Given the description of an element on the screen output the (x, y) to click on. 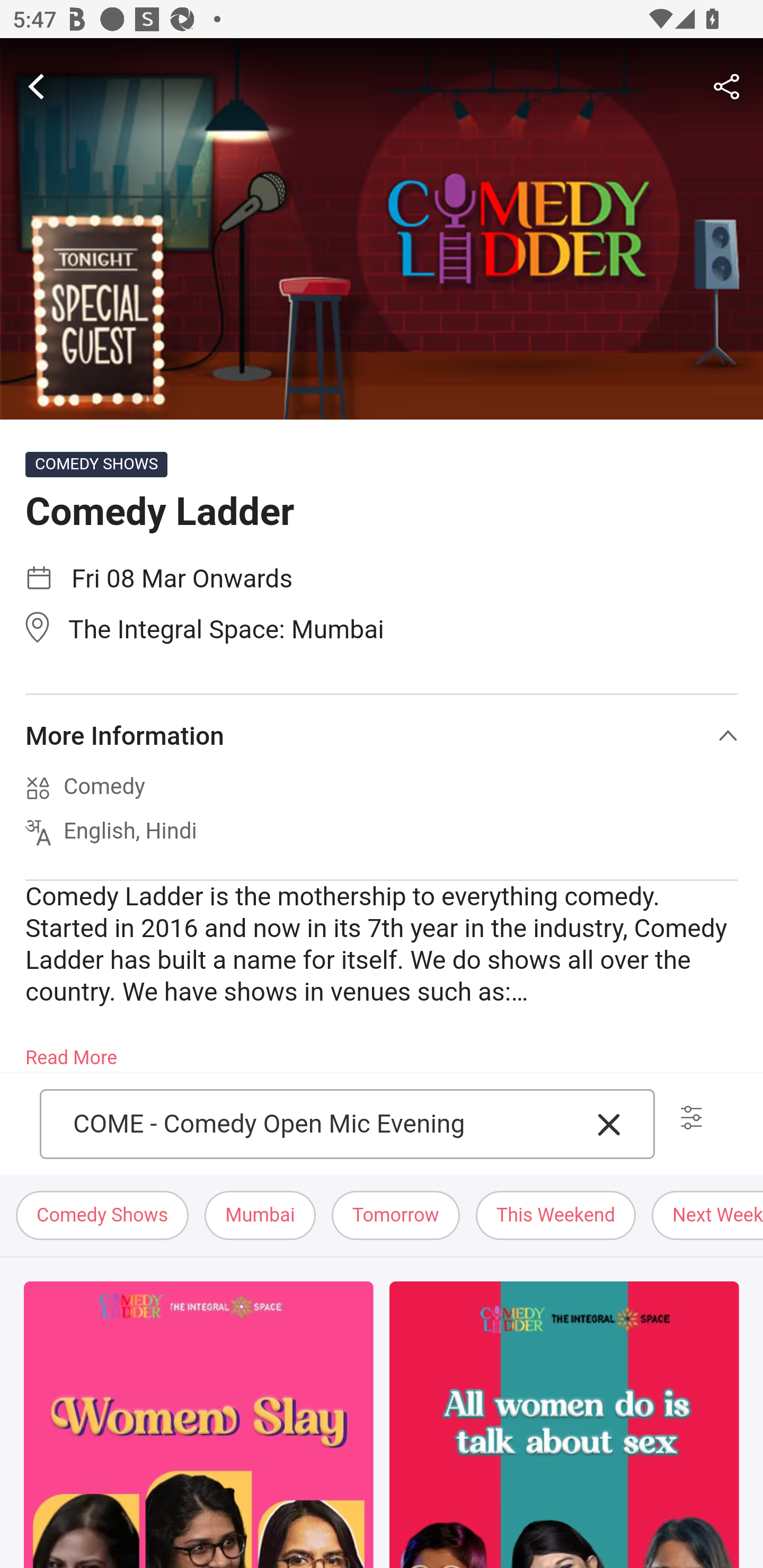
More Information (381, 735)
Read More (71, 1051)
COME - Comedy Open Mic Evening (327, 1124)
Comedy Shows (102, 1215)
Mumbai (259, 1215)
Tomorrow (395, 1215)
This Weekend (556, 1215)
Next Weekend (707, 1215)
